Given the description of an element on the screen output the (x, y) to click on. 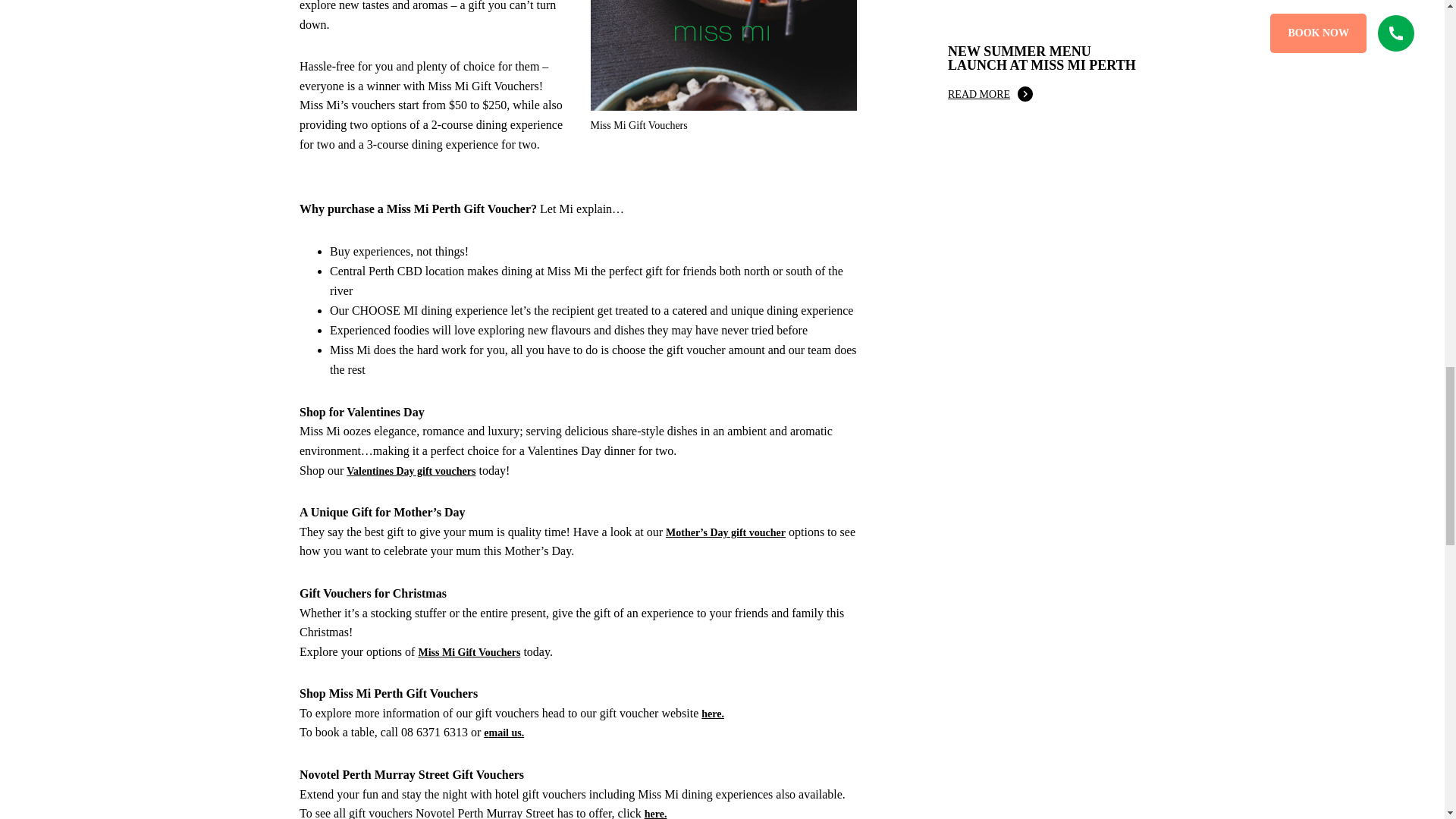
here. (712, 713)
mail u (501, 732)
Valentines Day gift vouchers (411, 471)
Miss Mi Gift Vouchers (468, 652)
here. (655, 813)
